Given the description of an element on the screen output the (x, y) to click on. 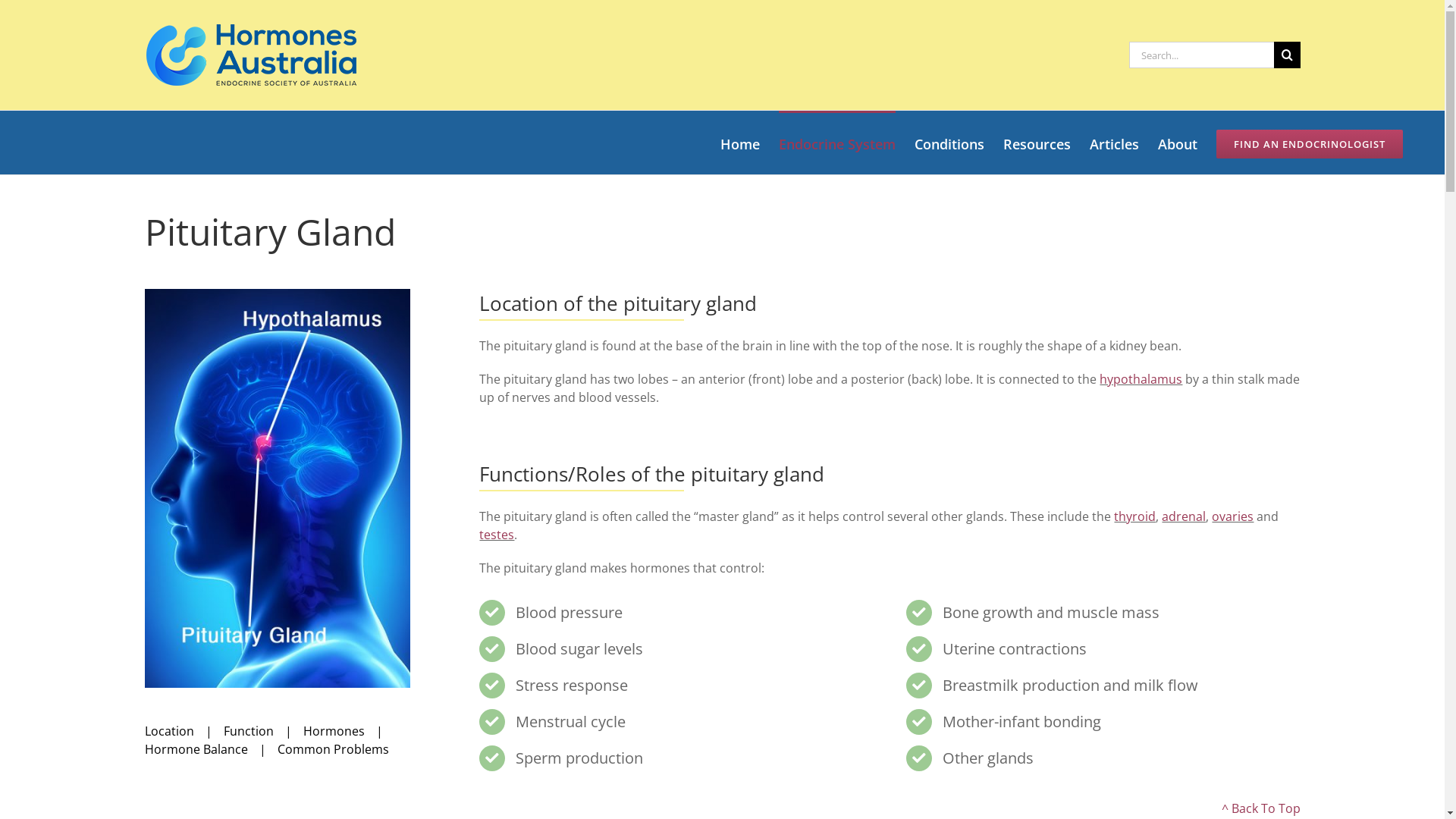
Hormones Element type: text (348, 730)
ovaries Element type: text (1232, 516)
About Element type: text (1177, 142)
Endocrine System Element type: text (836, 142)
FIND AN ENDOCRINOLOGIST Element type: text (1309, 142)
Location Element type: text (183, 730)
Articles Element type: text (1114, 142)
thyroid Element type: text (1134, 516)
Resources Element type: text (1036, 142)
Function Element type: text (262, 730)
Hormone Balance Element type: text (210, 749)
hypothalamus Element type: text (1140, 378)
Home Element type: text (739, 142)
Conditions Element type: text (949, 142)
^ Back To Top Element type: text (1259, 808)
testes Element type: text (496, 534)
Common Problems Element type: text (333, 749)
adrenal Element type: text (1183, 516)
